Given the description of an element on the screen output the (x, y) to click on. 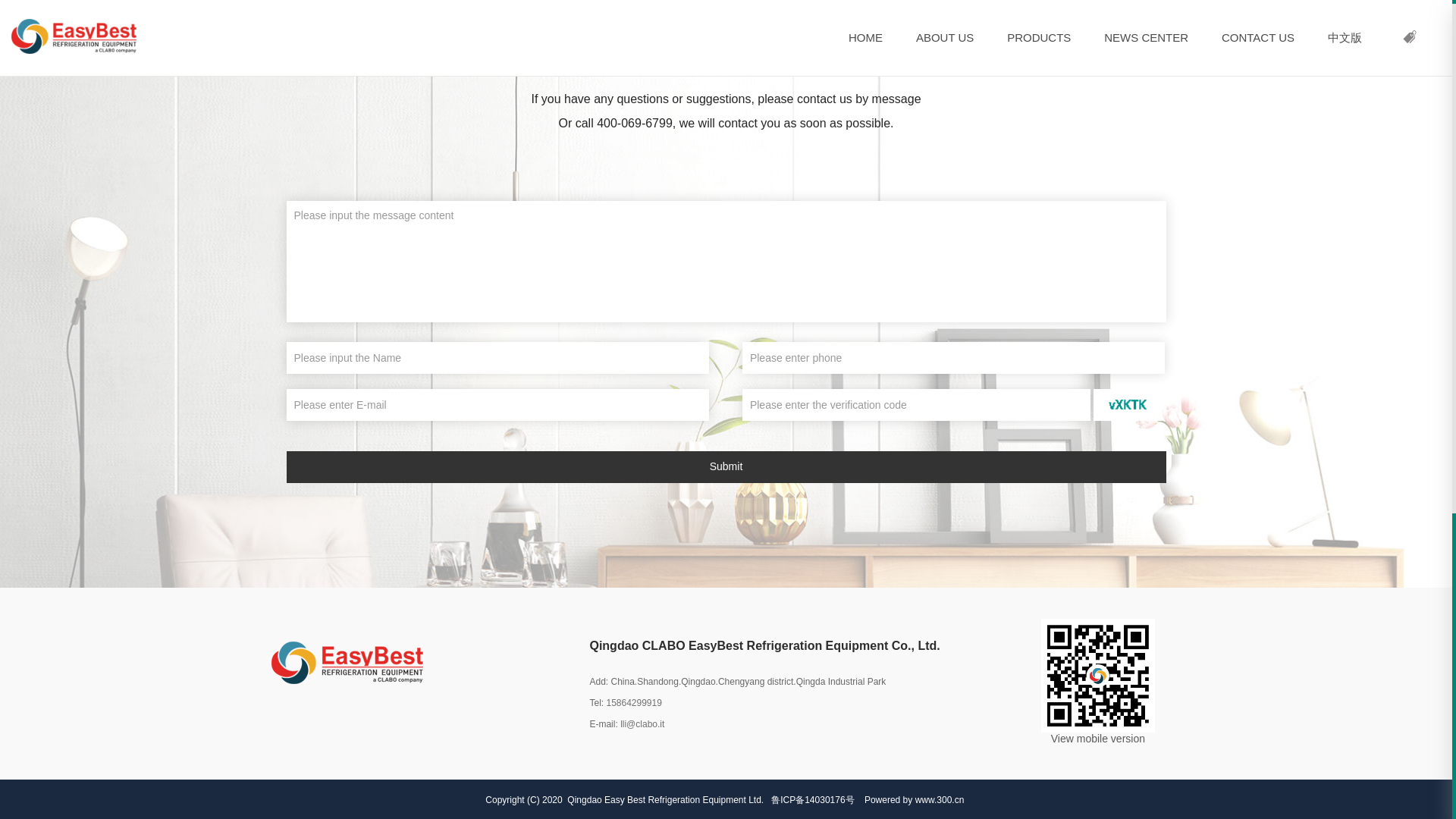
Qingdao EasyBest Refrigeration Equipment Ltd. (346, 662)
Qingdao EasyBest Refrigeration Equipment Ltd. (1097, 675)
15864299919 (633, 702)
Submit (726, 467)
